Given the description of an element on the screen output the (x, y) to click on. 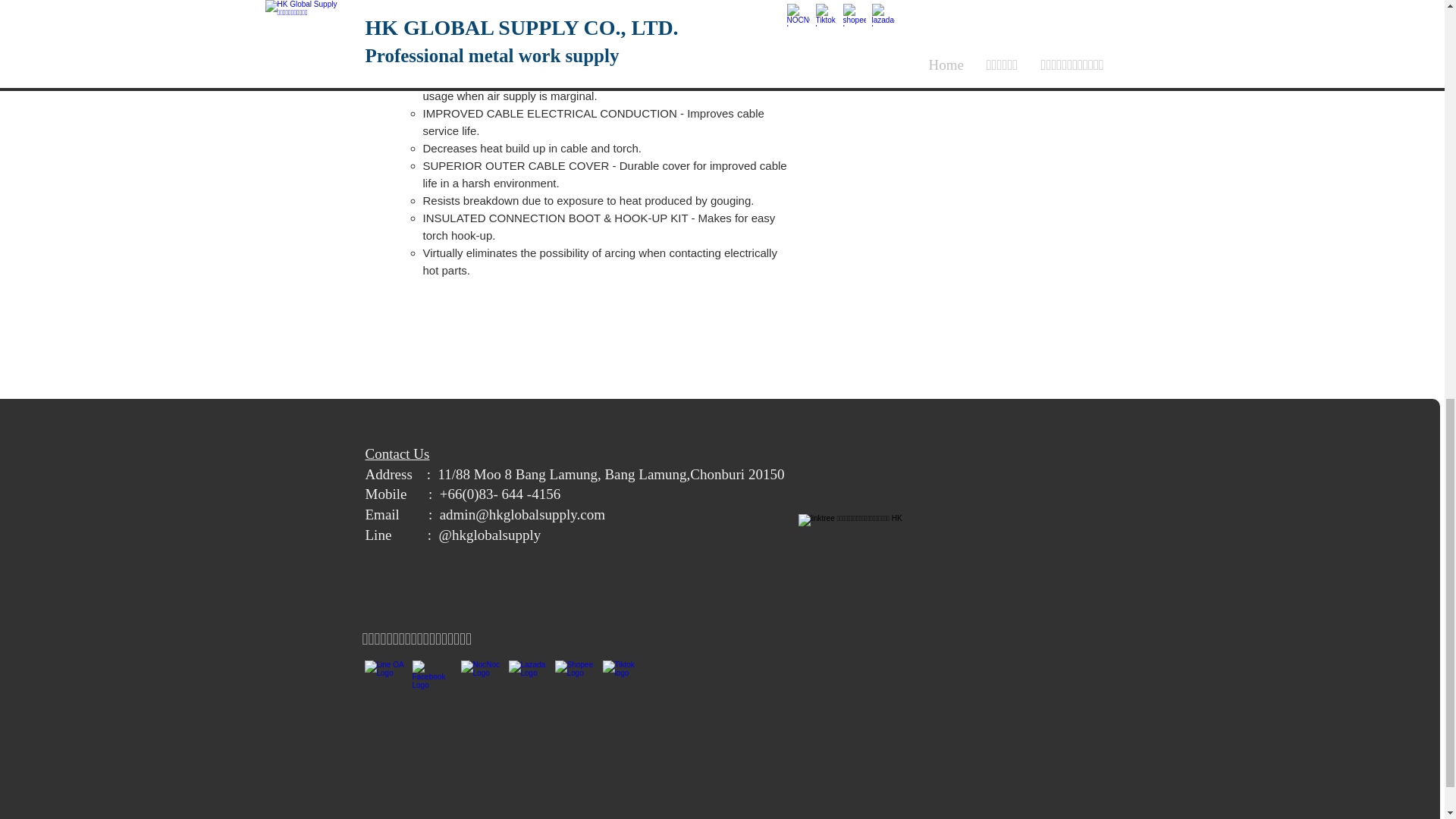
Contact Us (397, 453)
nocnoc-logo-removebg-preview.png (482, 681)
linktree-hkglobalsupply.png (856, 572)
lazada-logo2-removebg-preview.png (529, 681)
shopee-Logo.png (575, 681)
